Given the description of an element on the screen output the (x, y) to click on. 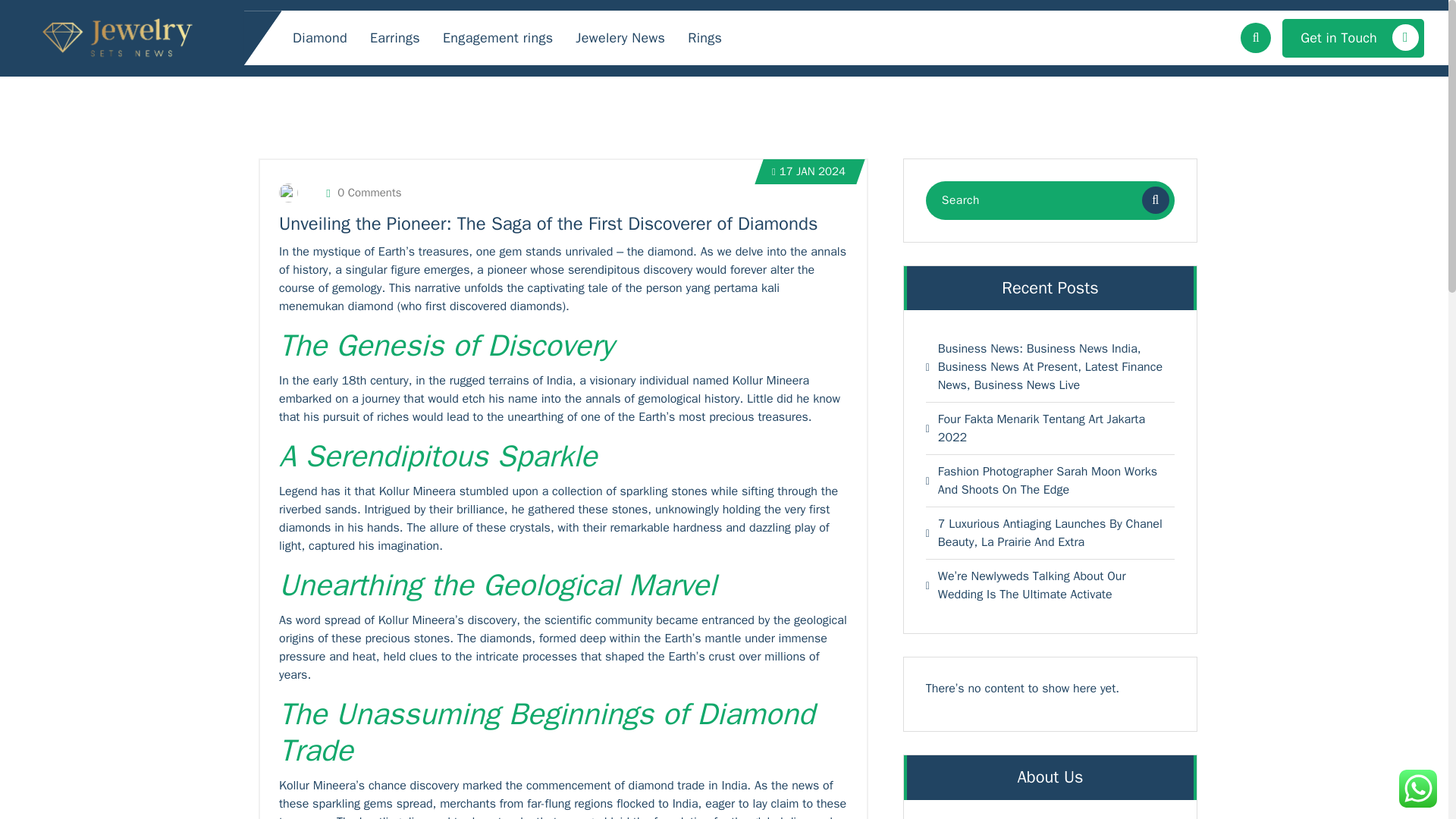
0 Comments (363, 192)
Earrings (394, 37)
Engagement rings (497, 37)
Jewelery News (620, 37)
Diamond (320, 37)
Rings (705, 37)
17 JAN 2024 (808, 171)
Jewelery News (620, 37)
Rings (705, 37)
